Given the description of an element on the screen output the (x, y) to click on. 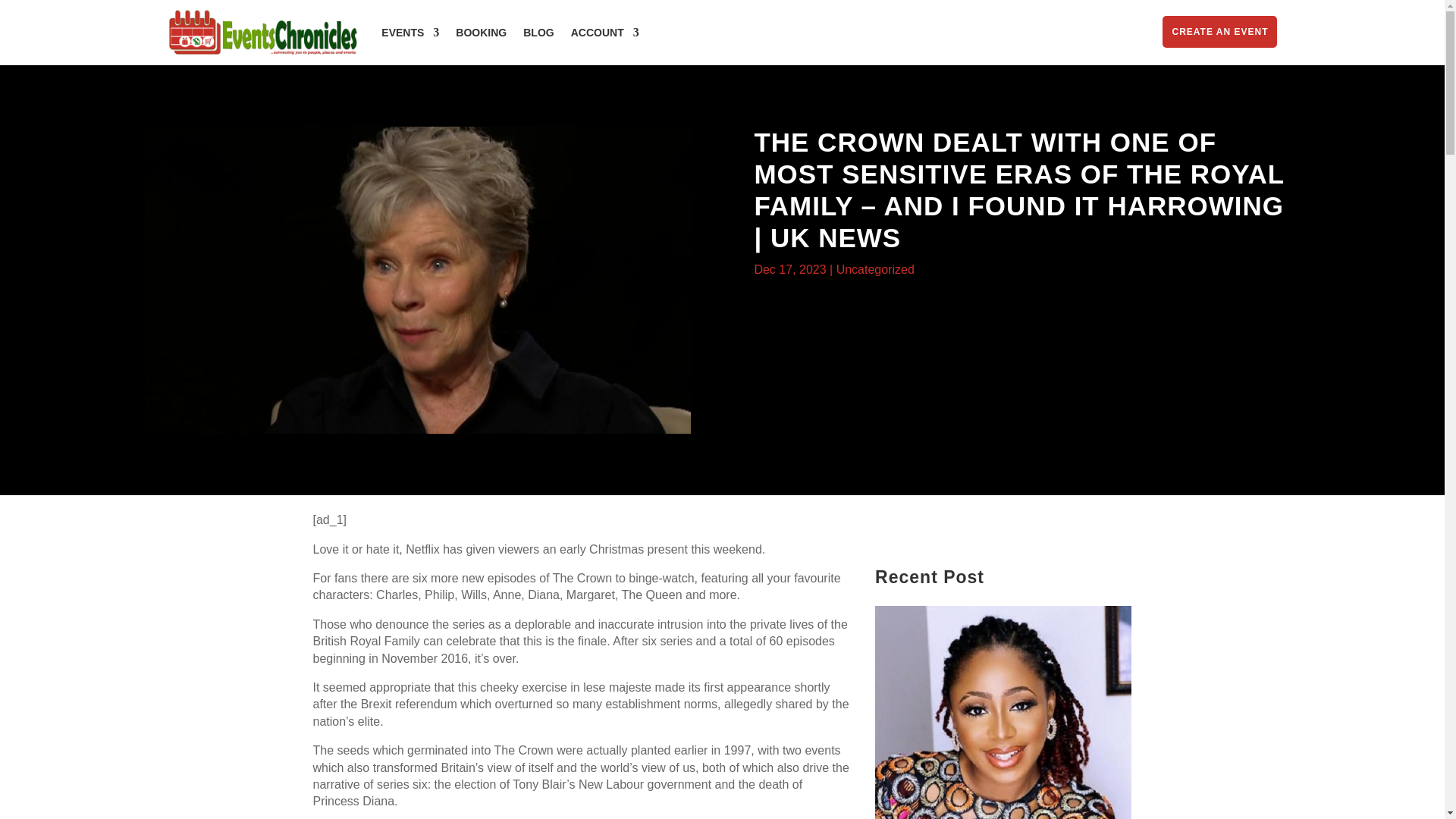
CREATE AN EVENT (1218, 31)
ACCOUNT (604, 32)
EVENTS (410, 32)
